Given the description of an element on the screen output the (x, y) to click on. 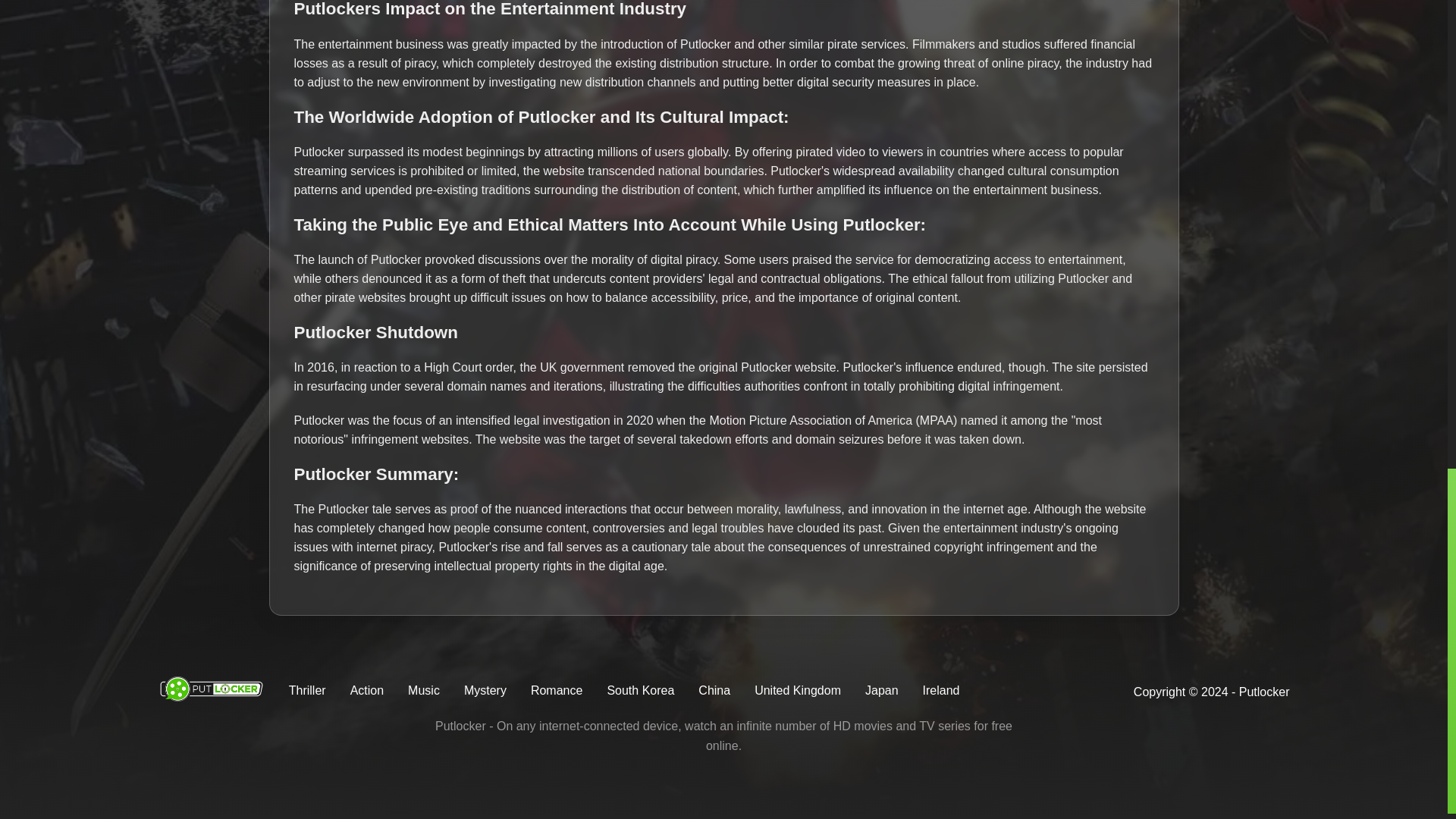
Mystery (485, 689)
United Kingdom (797, 689)
South Korea (640, 689)
Romance (556, 689)
Japan (881, 689)
Music (423, 689)
Thriller (307, 689)
Action (367, 689)
China (714, 689)
Ireland (941, 689)
